Given the description of an element on the screen output the (x, y) to click on. 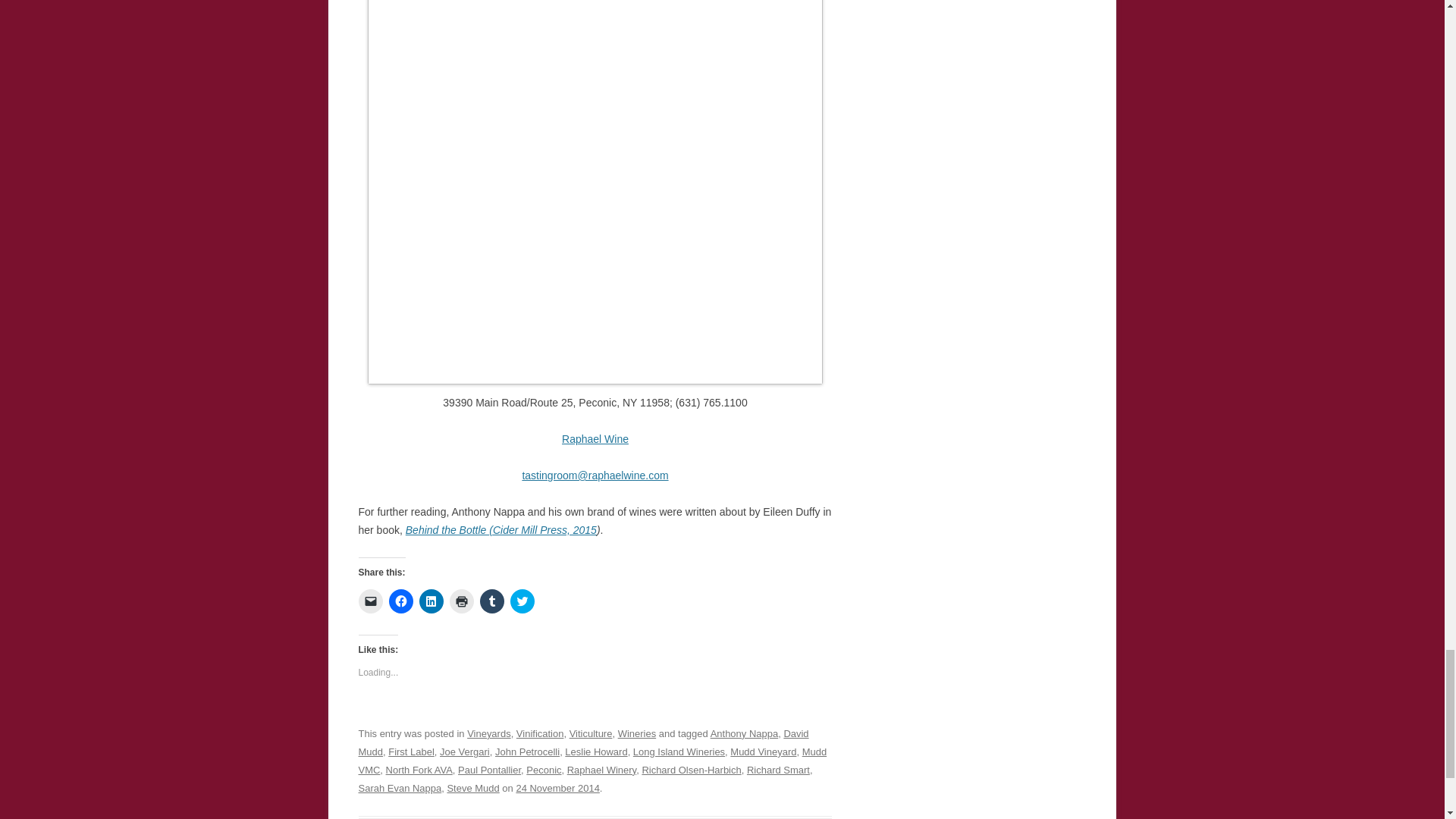
Wineries (636, 733)
Vineyards (489, 733)
Click to email a link to a friend (369, 600)
20:00 (556, 787)
John Petrocelli (527, 751)
Click to share on Facebook (400, 600)
Leslie Howard (595, 751)
Joe Vergari (464, 751)
Long Island Wineries (679, 751)
Anthony Nappa (744, 733)
Mudd Vineyard (763, 751)
Click to share on LinkedIn (430, 600)
Click to share on Twitter (521, 600)
North Fork AVA (418, 769)
David Mudd (583, 742)
